Given the description of an element on the screen output the (x, y) to click on. 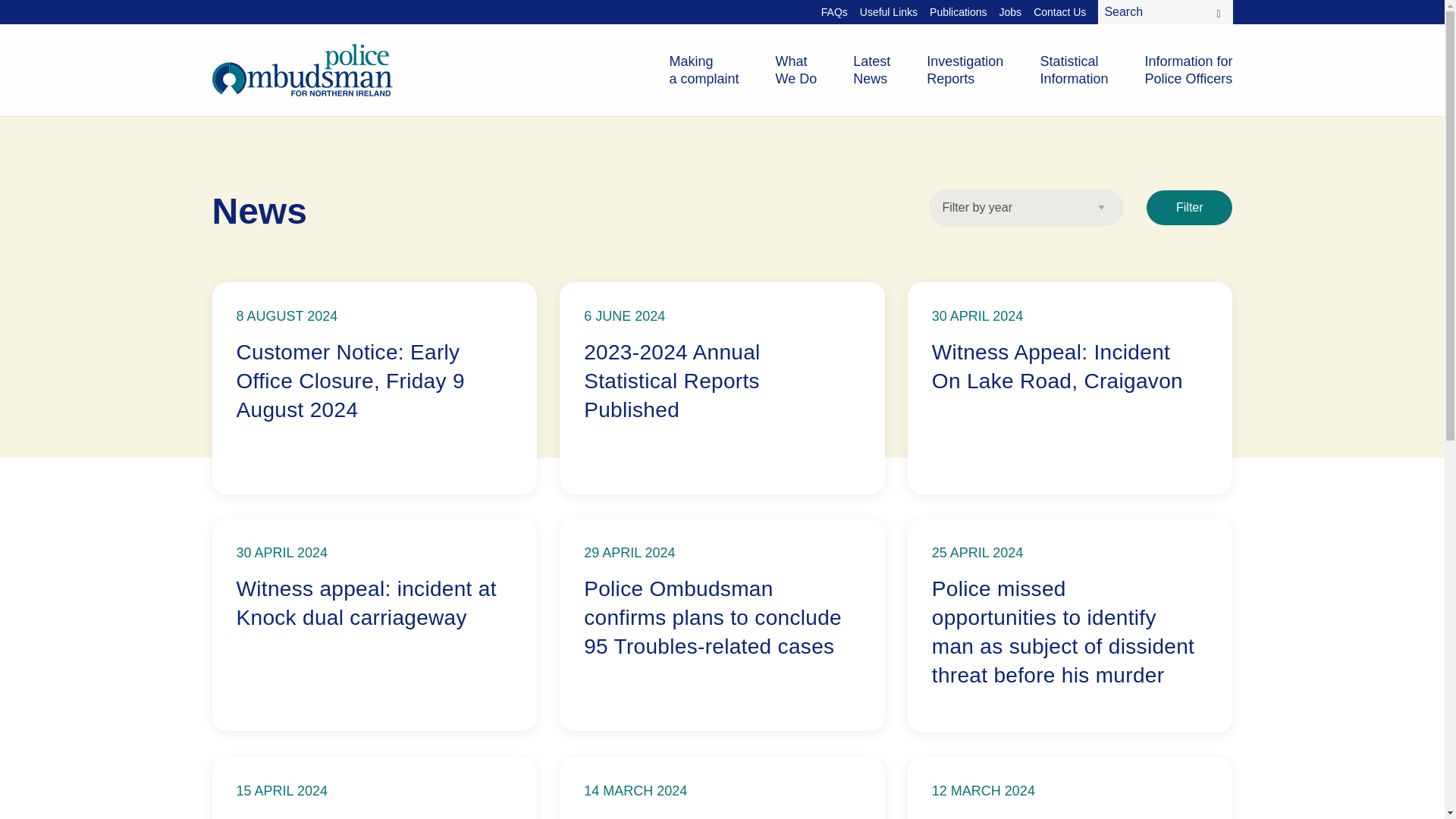
Jobs (1010, 11)
Publications (1187, 70)
FAQs (1073, 70)
